Given the description of an element on the screen output the (x, y) to click on. 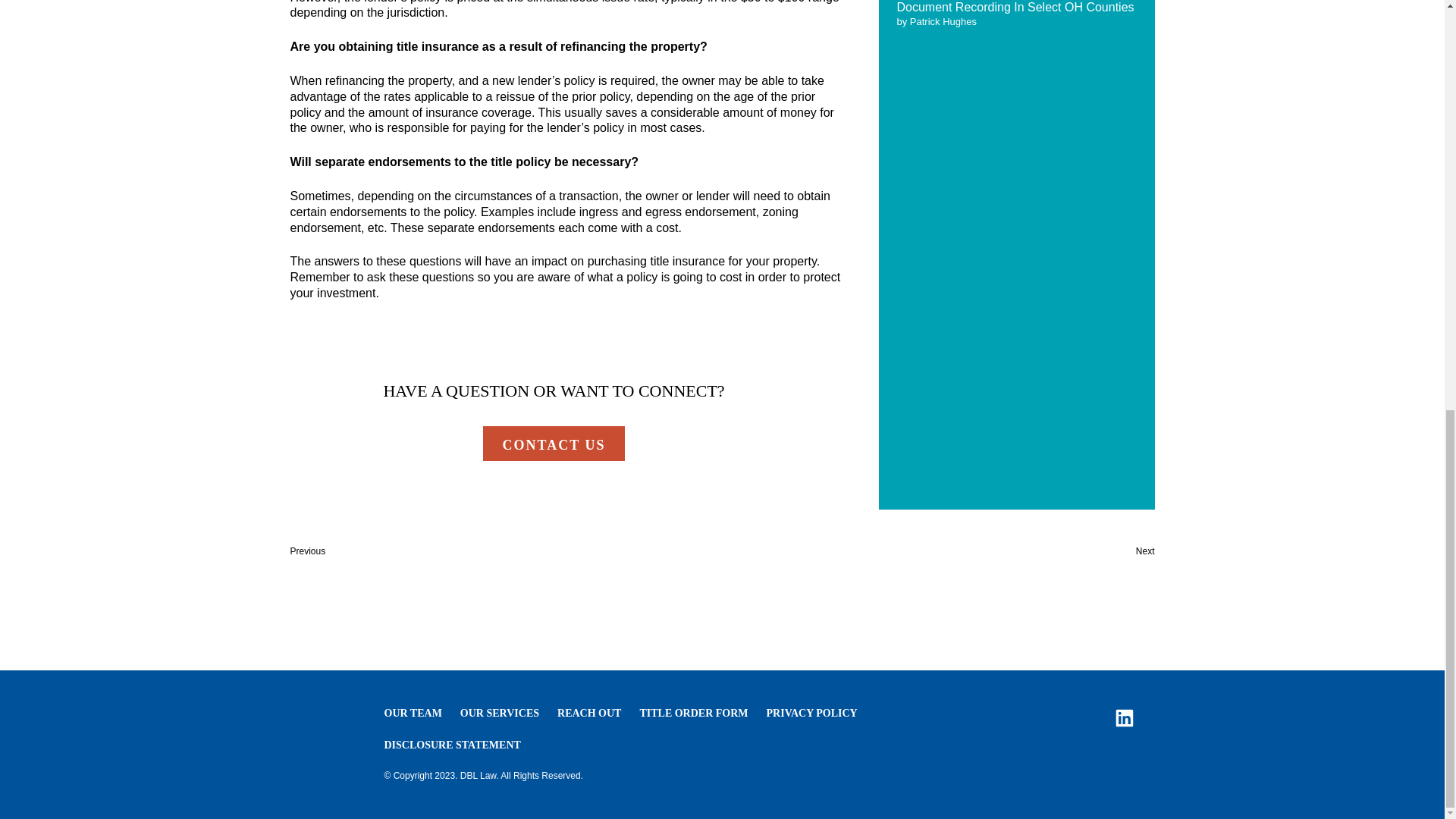
OUR TEAM (412, 713)
CONTACT US (554, 443)
Previous (306, 551)
Next (1144, 551)
PRIVACY POLICY (812, 713)
DISCLOSURE STATEMENT (451, 745)
LinkedIn (1124, 717)
OUR SERVICES (499, 713)
REACH OUT (589, 713)
TITLE ORDER FORM (693, 713)
